Given the description of an element on the screen output the (x, y) to click on. 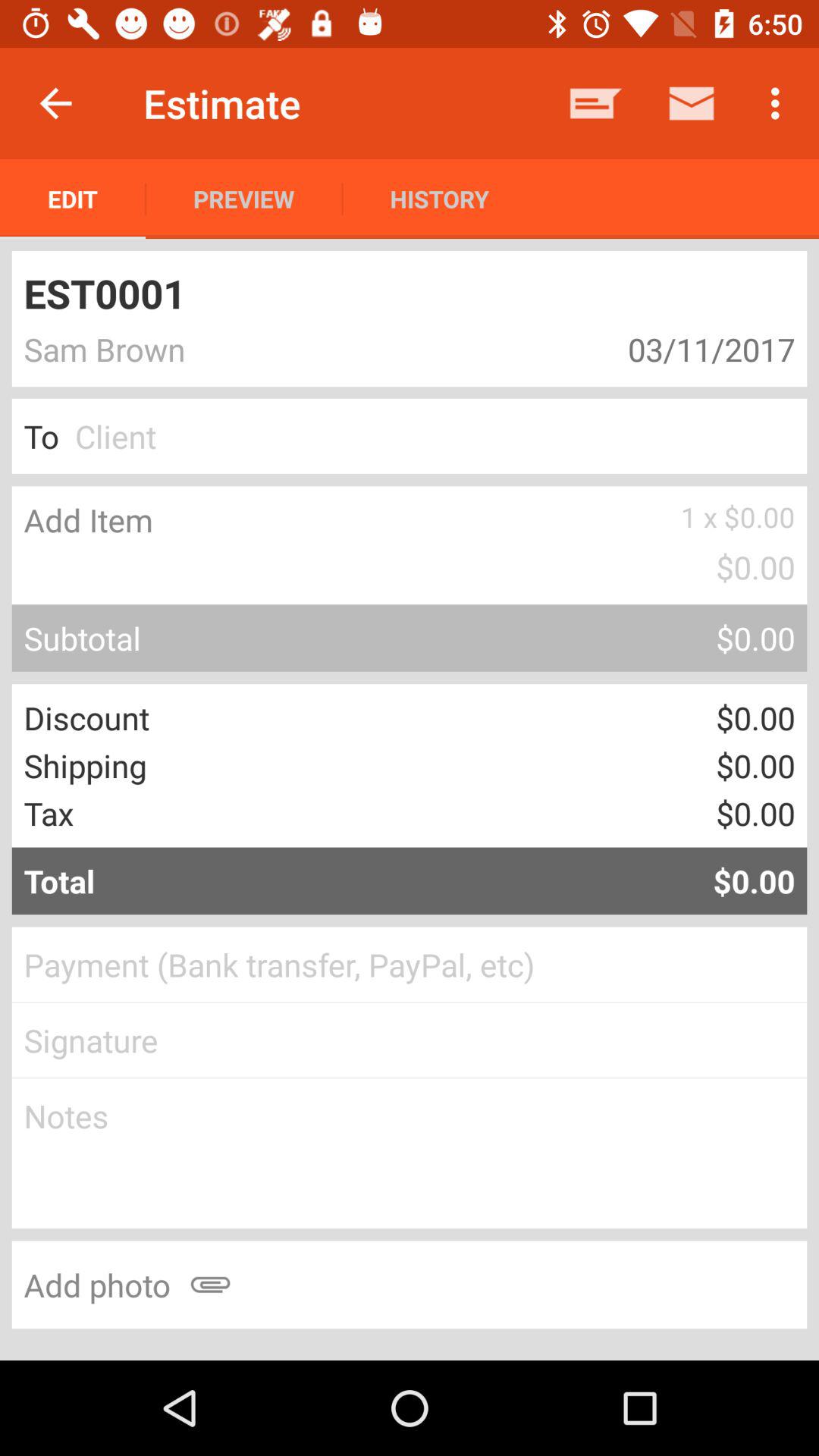
turn on the app to the left of the history app (243, 198)
